Given the description of an element on the screen output the (x, y) to click on. 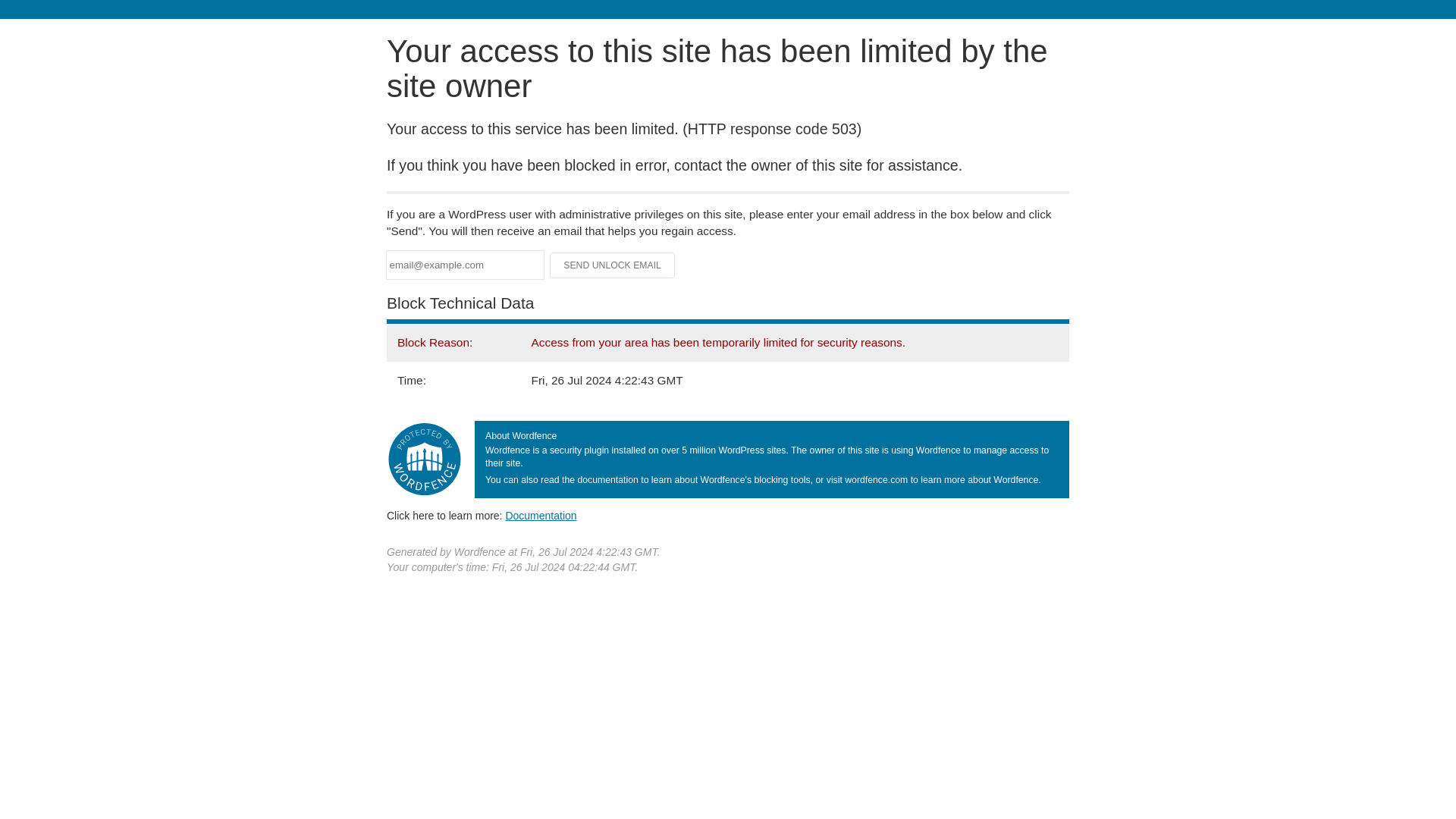
Documentation (540, 515)
Send Unlock Email (612, 265)
Send Unlock Email (612, 265)
